Given the description of an element on the screen output the (x, y) to click on. 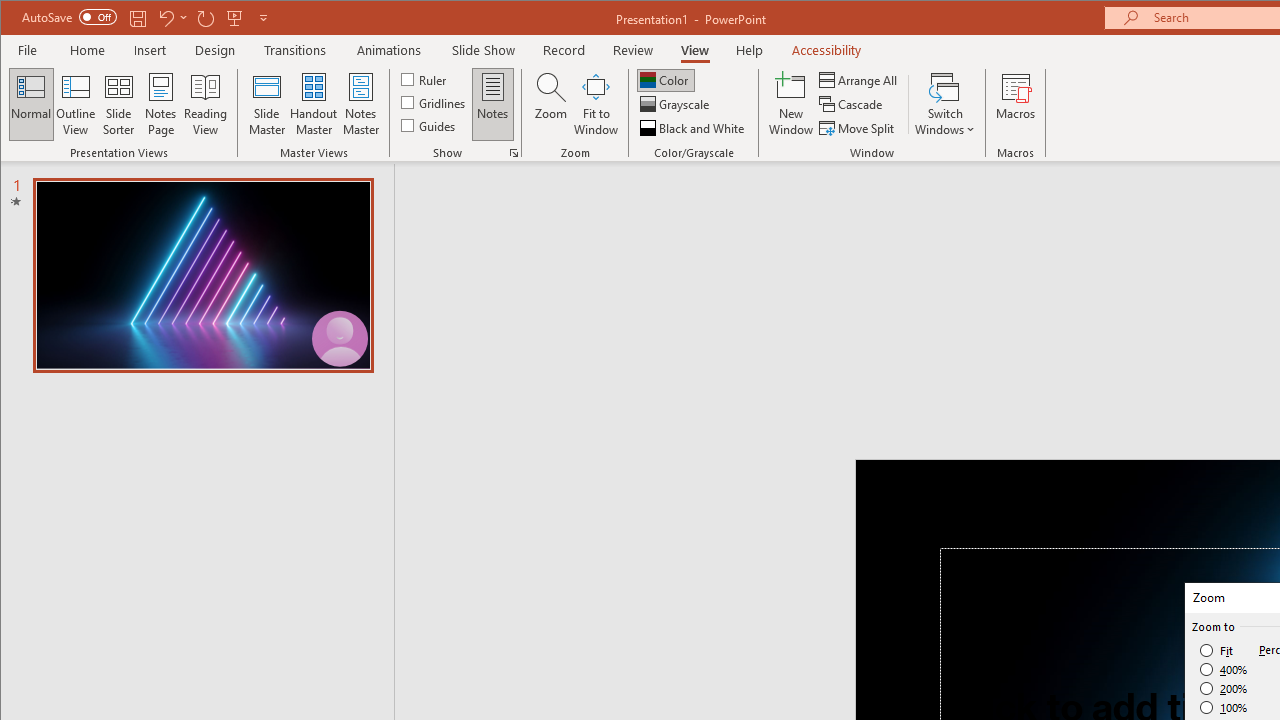
Notes Master (360, 104)
Zoom... (550, 104)
400% (1224, 669)
Grid Settings... (513, 152)
Ruler (425, 78)
Notes (493, 104)
Outline View (75, 104)
